Given the description of an element on the screen output the (x, y) to click on. 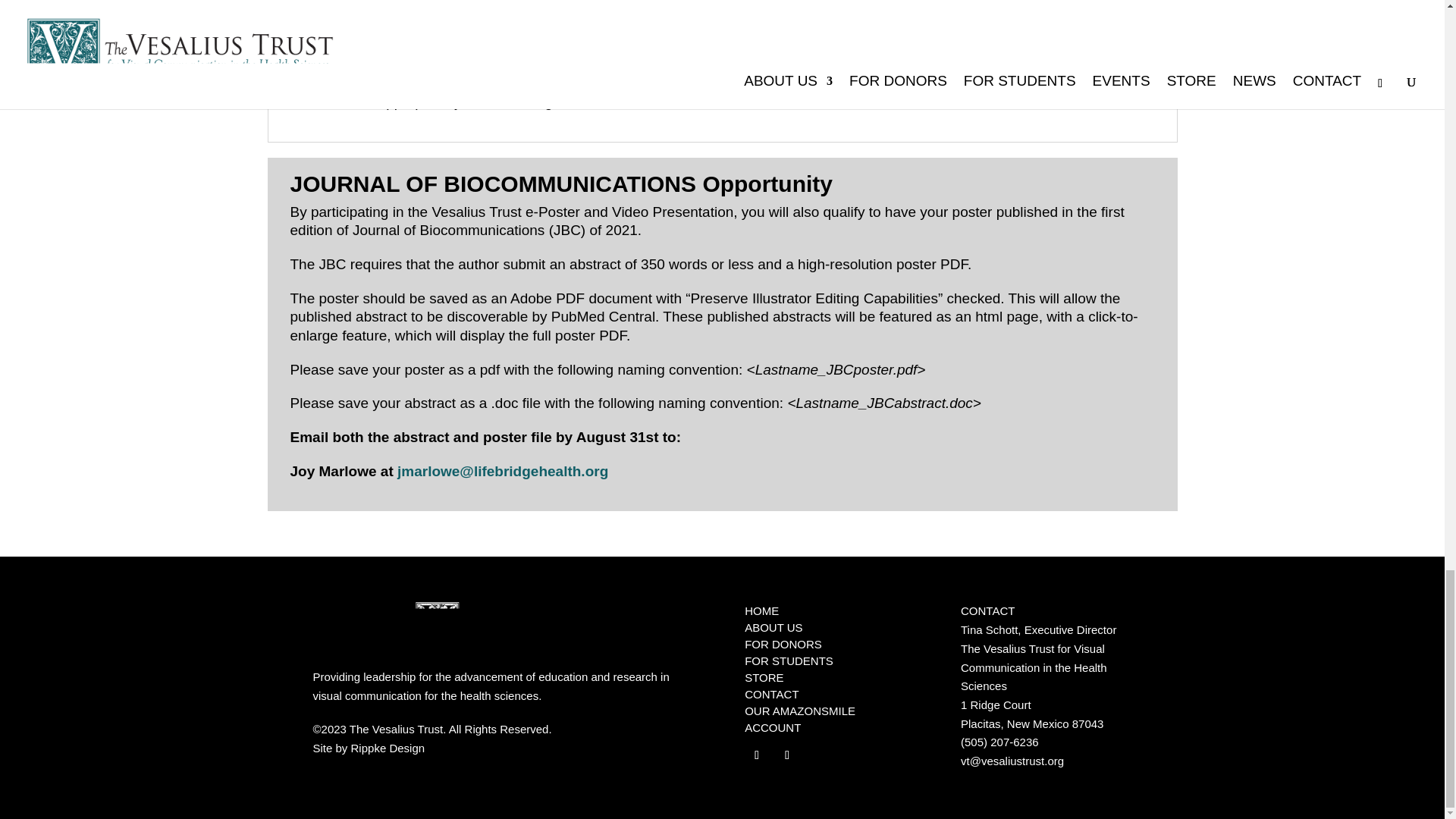
HOME (761, 610)
FOR DONORS (783, 644)
OUR AMAZONSMILE ACCOUNT (800, 718)
Follow on Facebook (756, 754)
ABOUT US (773, 626)
CONTACT (770, 694)
Rippke Design (387, 748)
Follow on Instagram (786, 754)
FOR STUDENTS (788, 660)
STORE (763, 676)
